Given the description of an element on the screen output the (x, y) to click on. 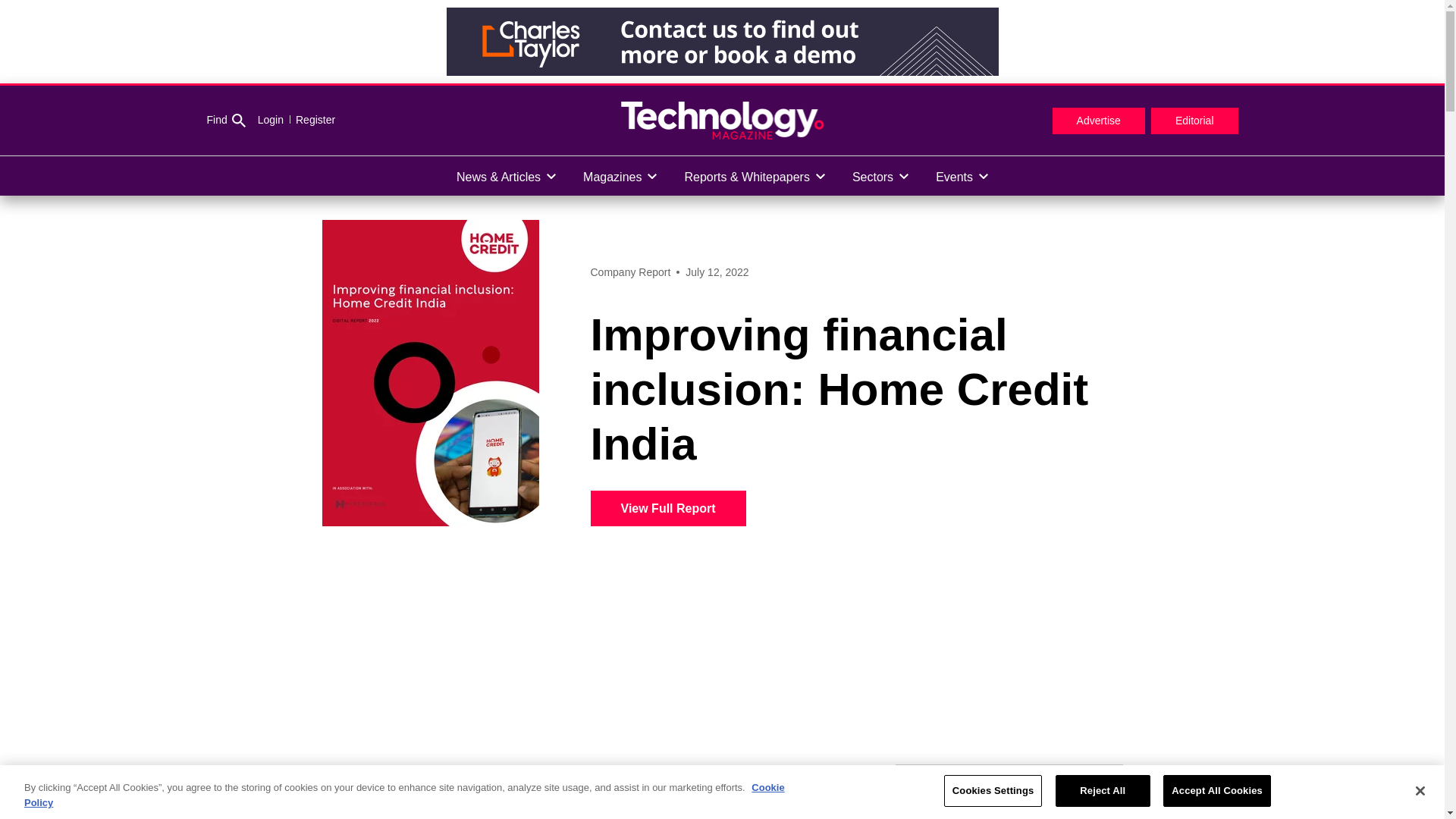
Advertise (1098, 121)
Login (270, 120)
Magazines (619, 175)
Events (961, 175)
Sectors (879, 175)
3rd party ad content (721, 41)
Register (308, 120)
Find (225, 120)
Editorial (1195, 121)
